Given the description of an element on the screen output the (x, y) to click on. 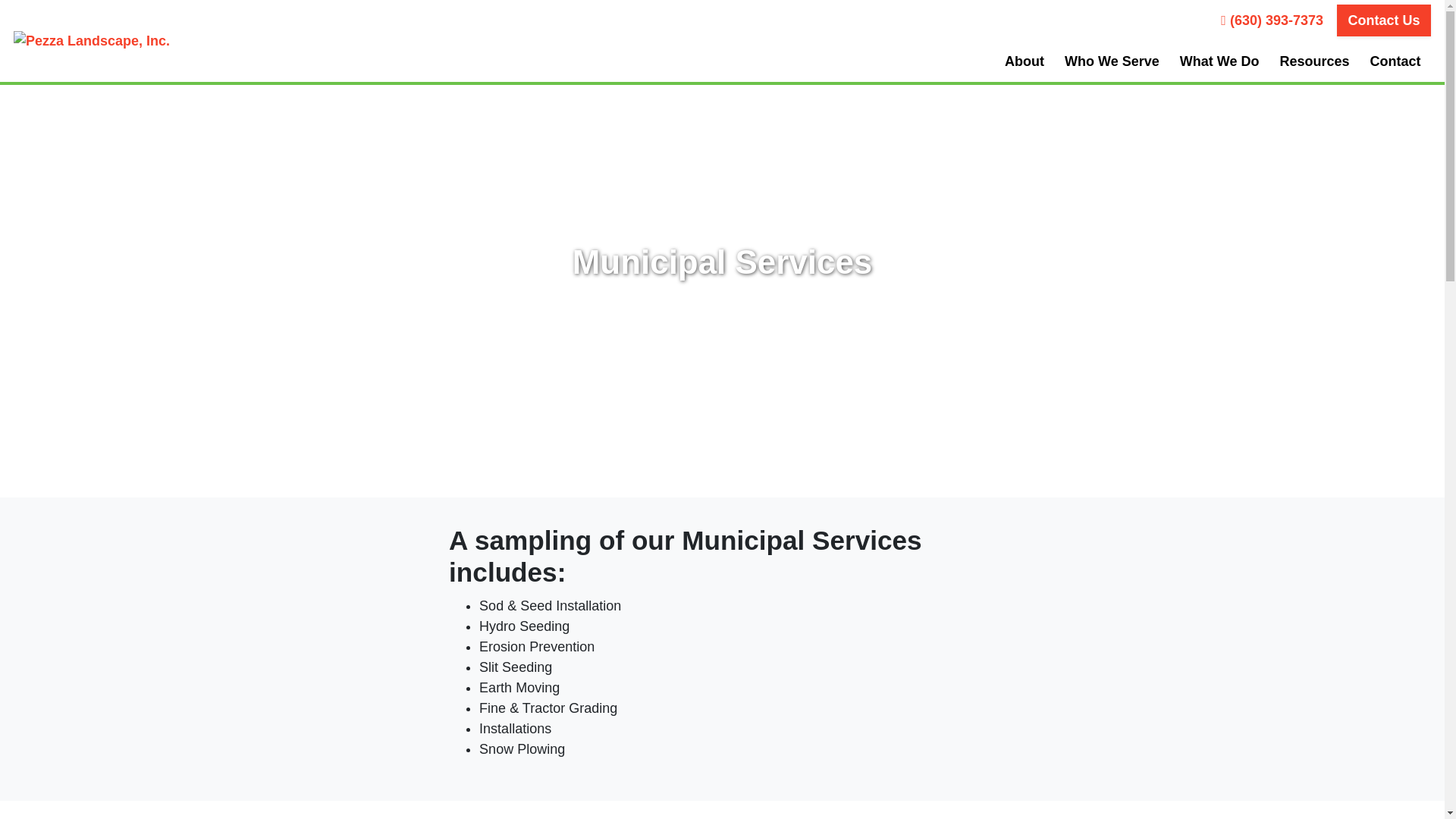
Resources (1314, 60)
Who We Serve (1112, 60)
Contact Us (1383, 20)
What We Do (1219, 60)
About (1024, 60)
